Given the description of an element on the screen output the (x, y) to click on. 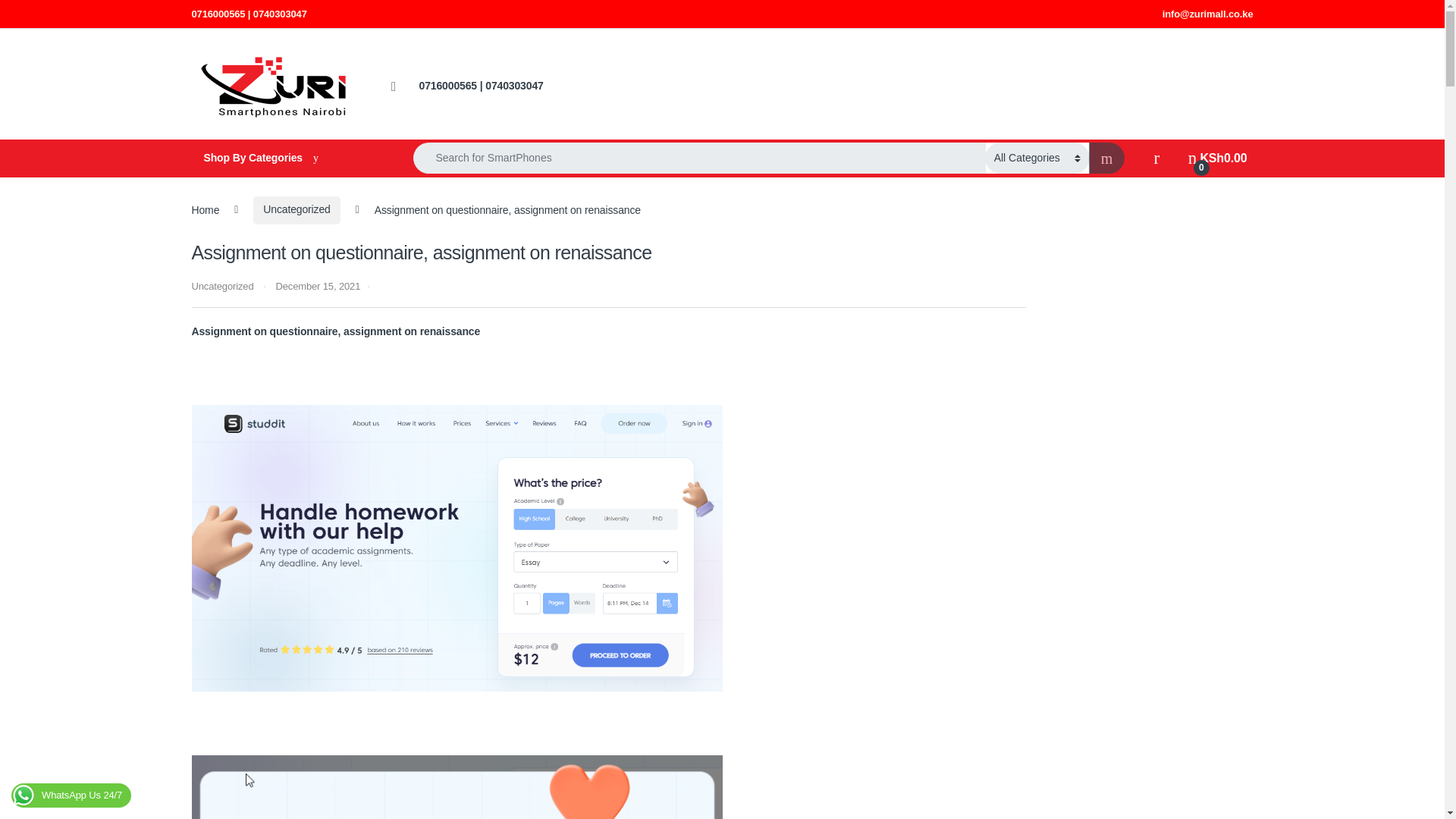
Shop By Categories (1217, 158)
